Given the description of an element on the screen output the (x, y) to click on. 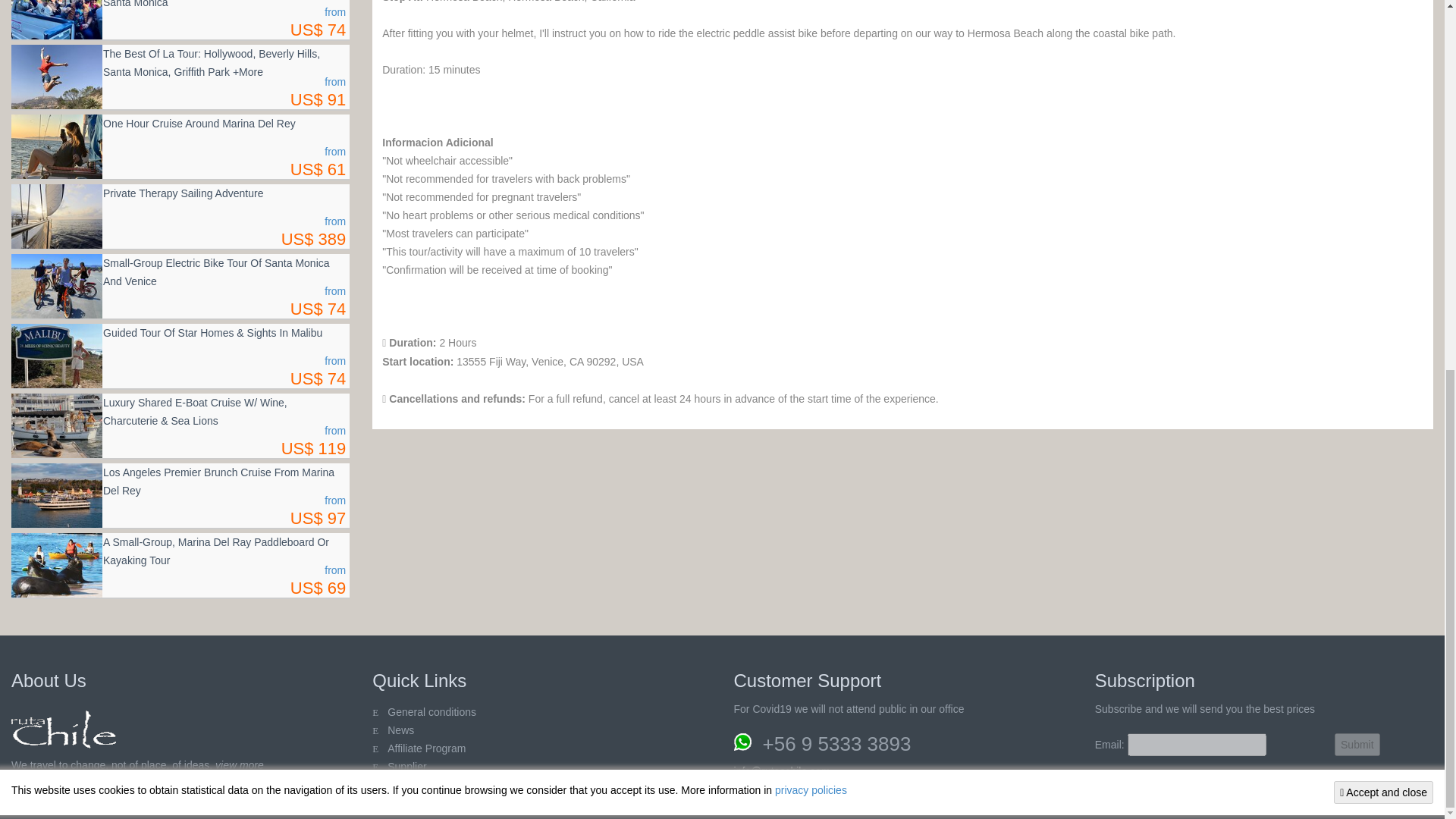
Pinterest (87, 801)
Quick Links (406, 784)
Youtube (116, 801)
Affiliate Program (426, 748)
Twitter (27, 801)
Quick Links (406, 766)
Quick Links (431, 711)
Quick Links (400, 729)
Instagram (145, 801)
Submit (1357, 744)
Facebook (57, 801)
